Given the description of an element on the screen output the (x, y) to click on. 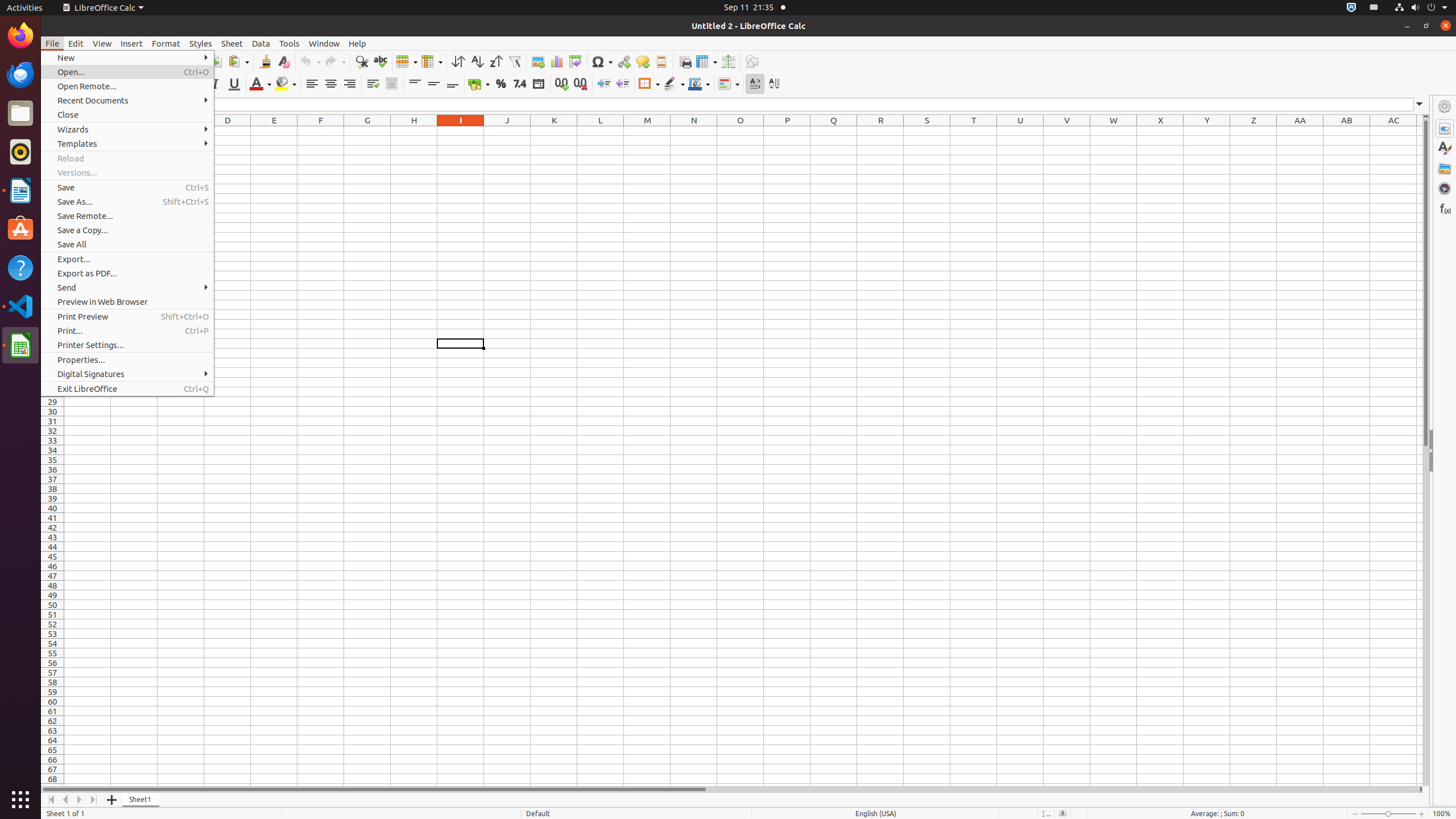
Save Remote... Element type: menu-item (126, 215)
Text direction from left to right Element type: toggle-button (754, 83)
Exit LibreOffice Element type: menu-item (126, 388)
Insert Element type: menu (131, 43)
Versions... Element type: menu-item (126, 172)
